Given the description of an element on the screen output the (x, y) to click on. 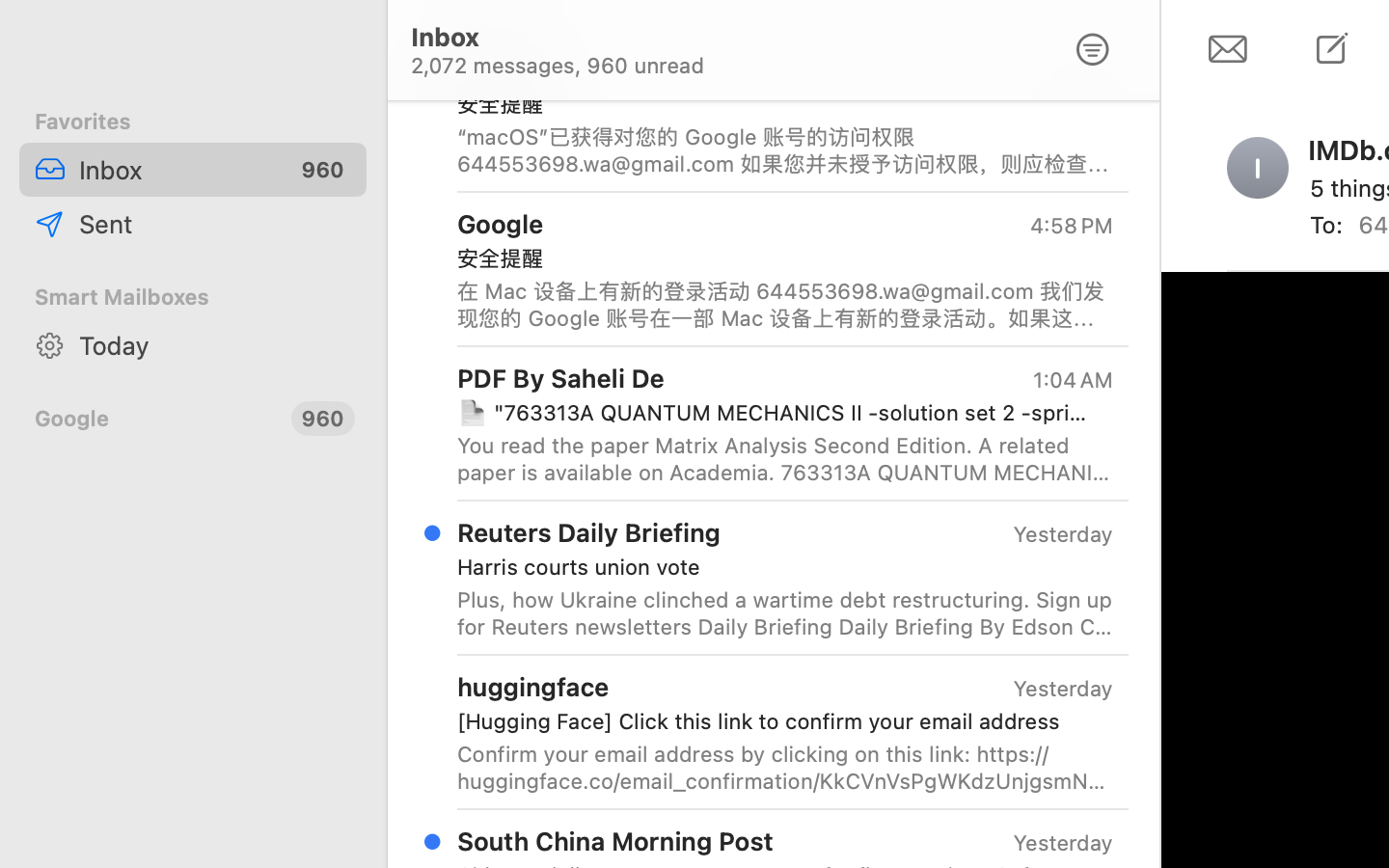
4:58 PM Element type: AXStaticText (1071, 70)
I Element type: AXStaticText (1257, 167)
“macOS”已获得对您的 Google 账号的访问权限 644553698.wa@gmail.com 如果您并未授予访问权限，则应检查此活动，并确保您的账号安全。 查看活动 您也可以访问以下网址查看安全性活动： https://myaccount.google.com/notifications 我们向您发送这封电子邮件，目的是让您了解关于您的 Google 账号和服务的重大变化。 © 2024 Google LLC, 1600 Amphitheatre Parkway, Mountain View, CA 94043, USA Element type: AXStaticText (784, 150)
South China Morning Post Element type: AXStaticText (615, 840)
📄 "763313A QUANTUM MECHANICS II -solution set 2 -spring 2014" by Saheli De Element type: AXStaticText (777, 412)
